Given the description of an element on the screen output the (x, y) to click on. 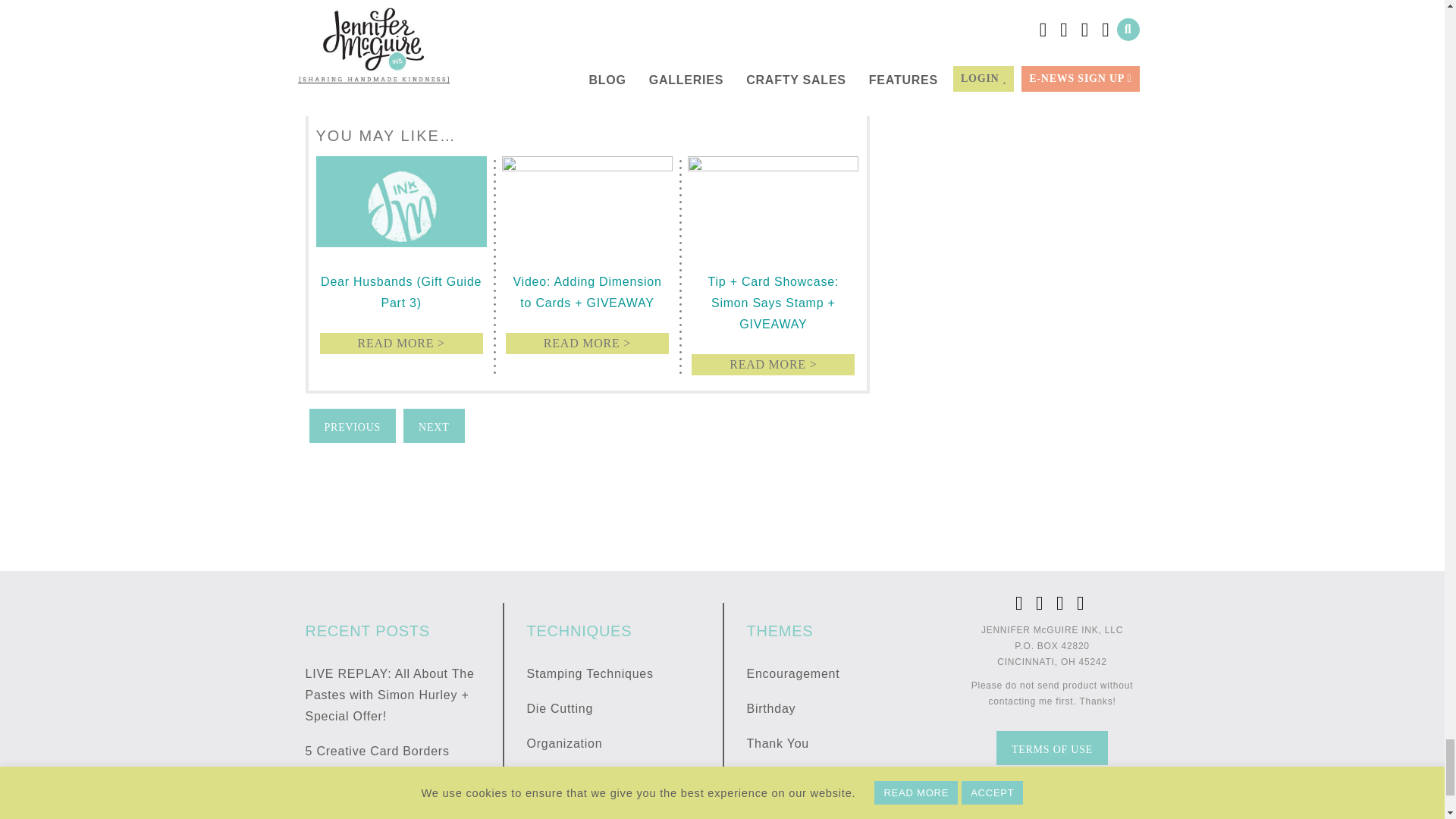
yes (315, 28)
Post Comment (360, 63)
